Given the description of an element on the screen output the (x, y) to click on. 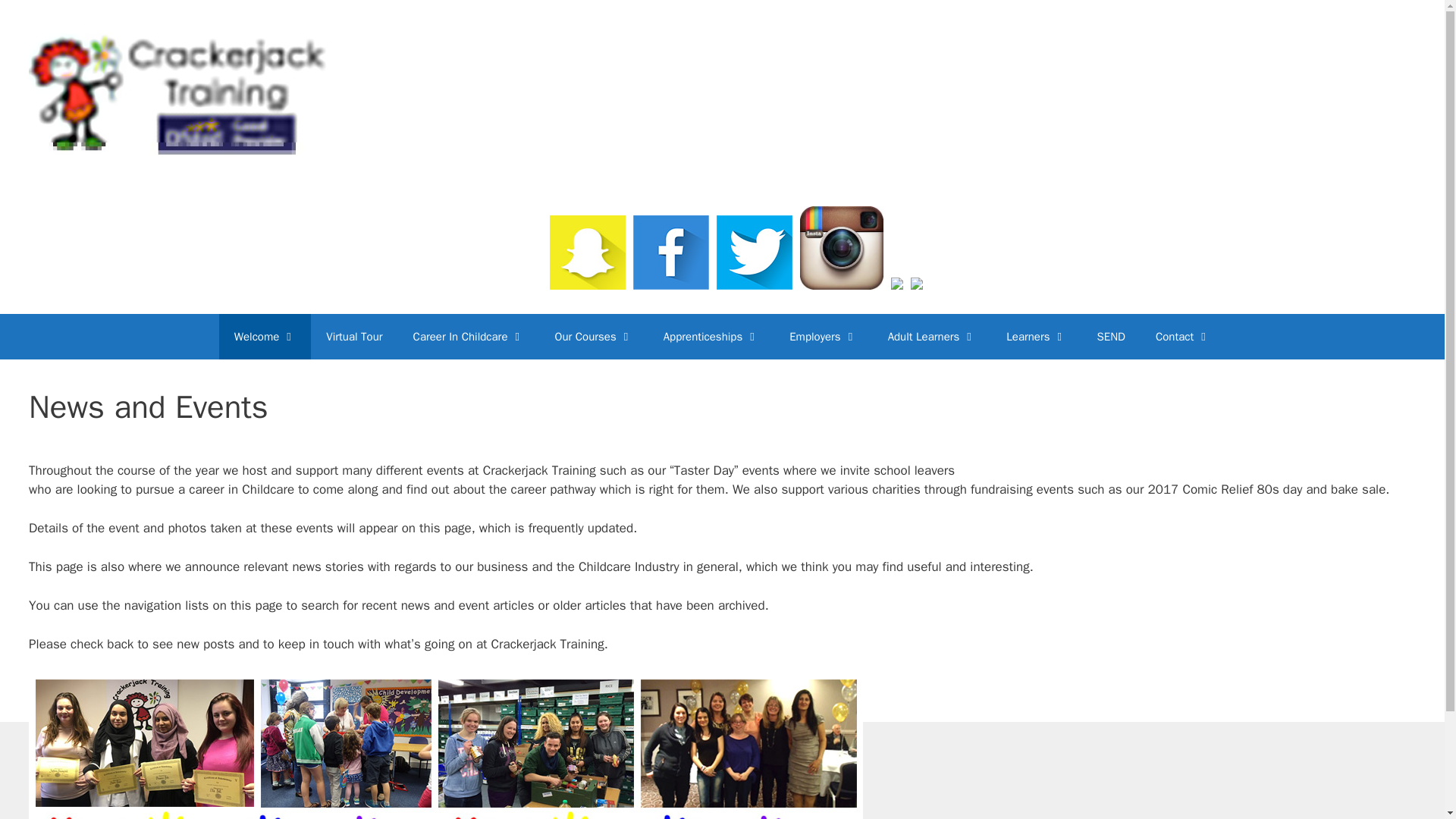
Welcome (265, 336)
